Given the description of an element on the screen output the (x, y) to click on. 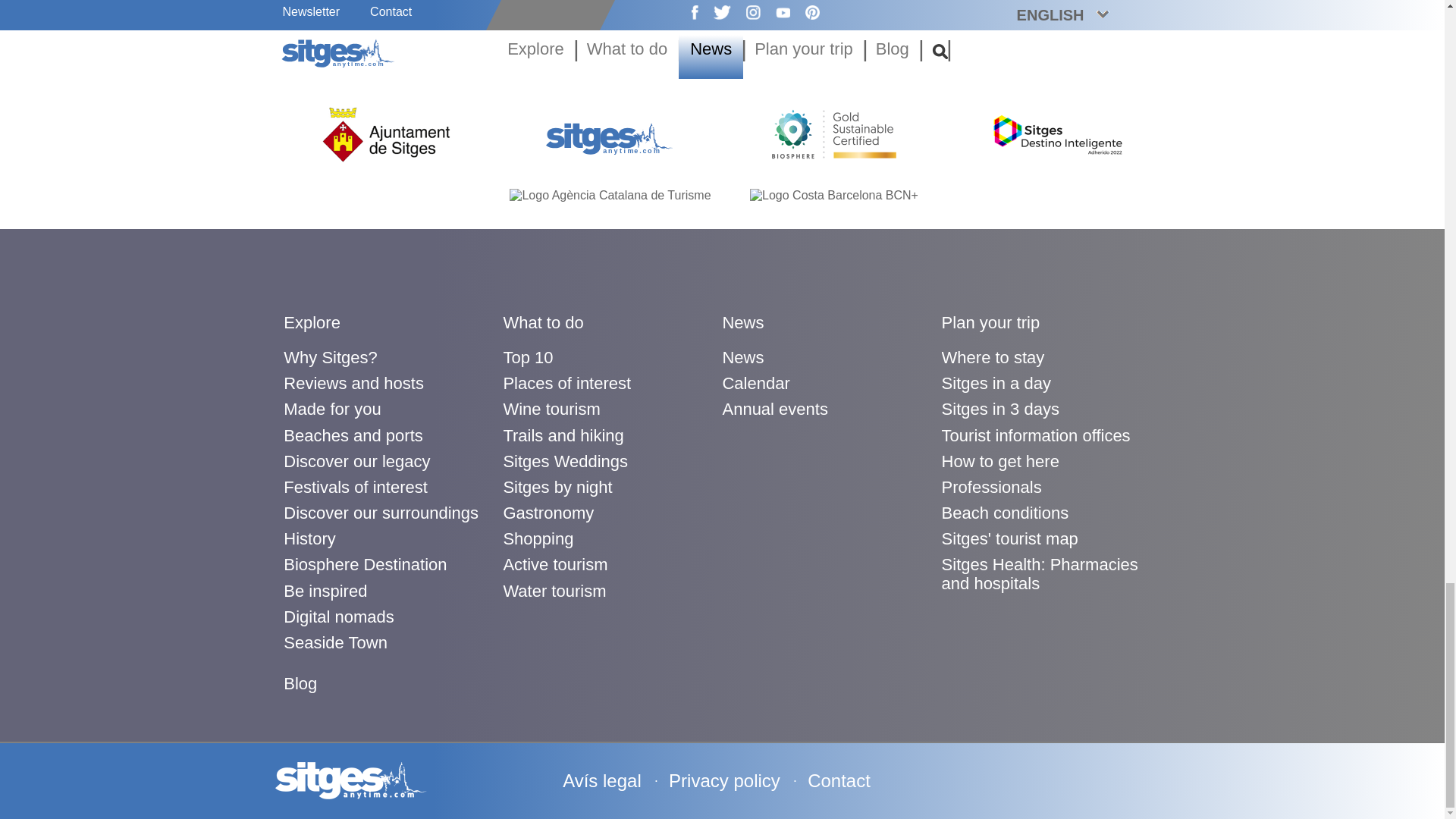
Publish (390, 20)
